Given the description of an element on the screen output the (x, y) to click on. 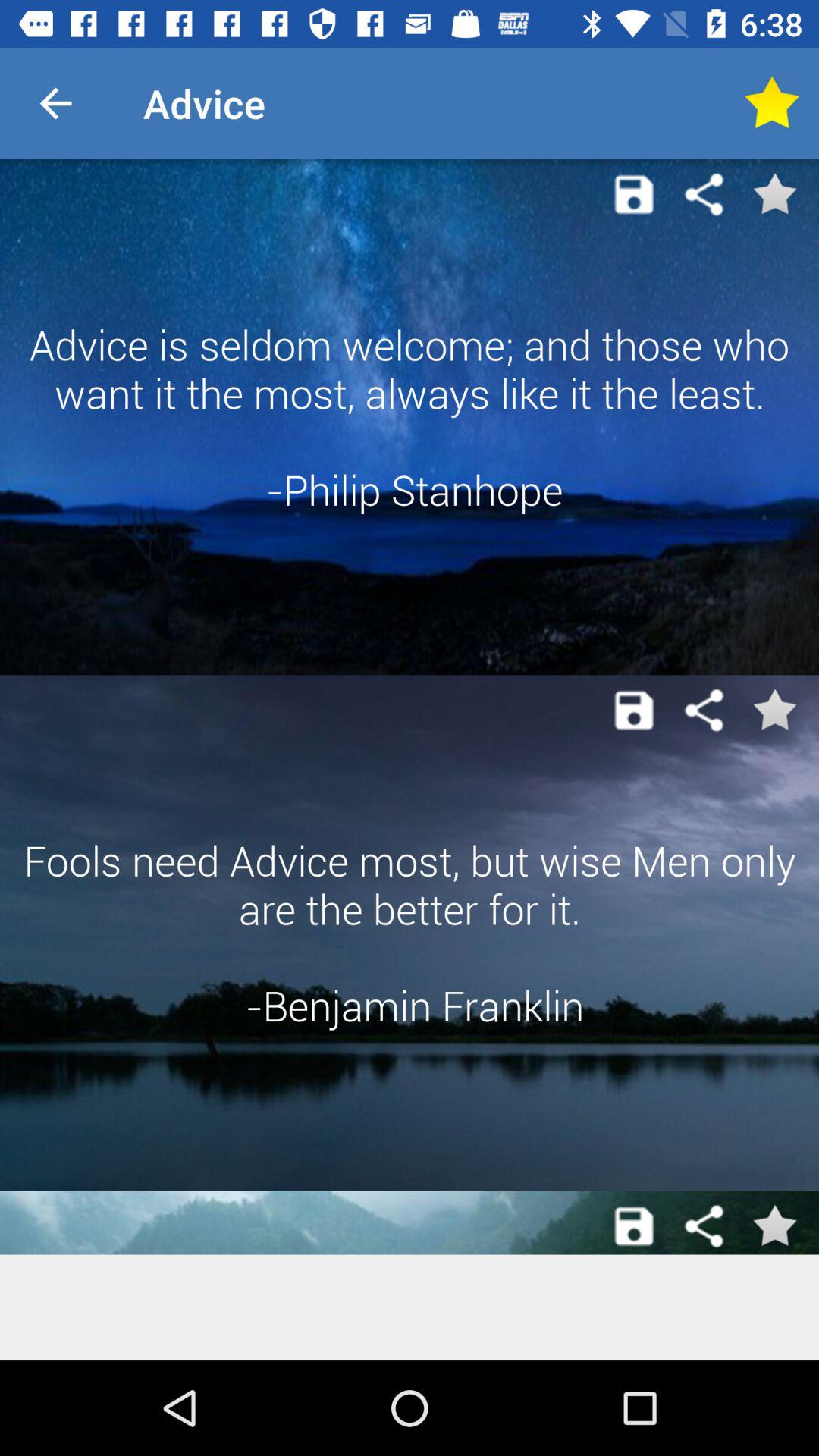
save content (634, 710)
